Given the description of an element on the screen output the (x, y) to click on. 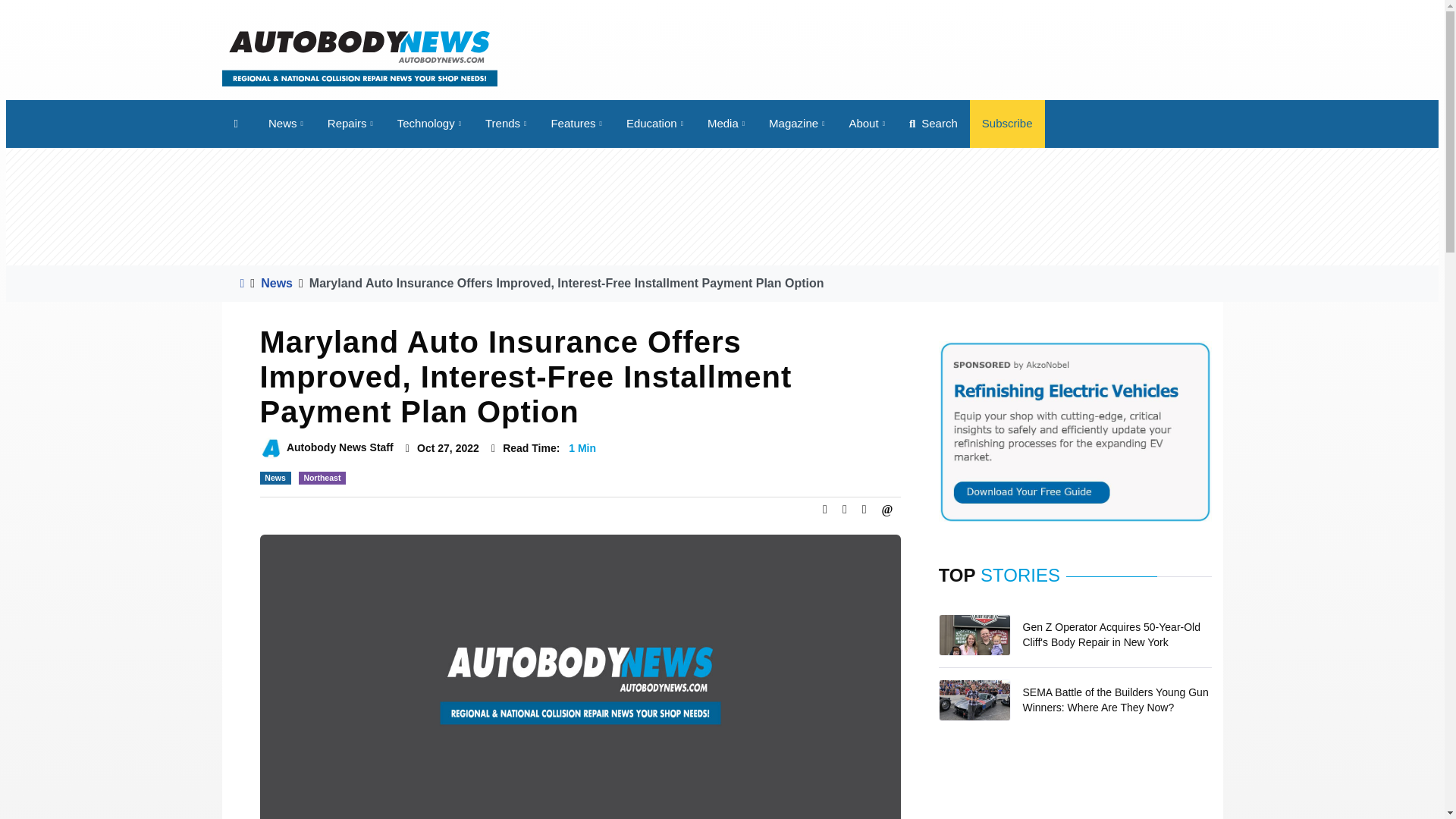
3rd party ad content (471, 206)
3rd party ad content (1074, 795)
Repairs (350, 123)
Trends (505, 123)
Technology (429, 123)
3rd party ad content (971, 206)
Autobody News (358, 57)
Features (576, 123)
News (285, 123)
3rd party ad content (947, 58)
